Given the description of an element on the screen output the (x, y) to click on. 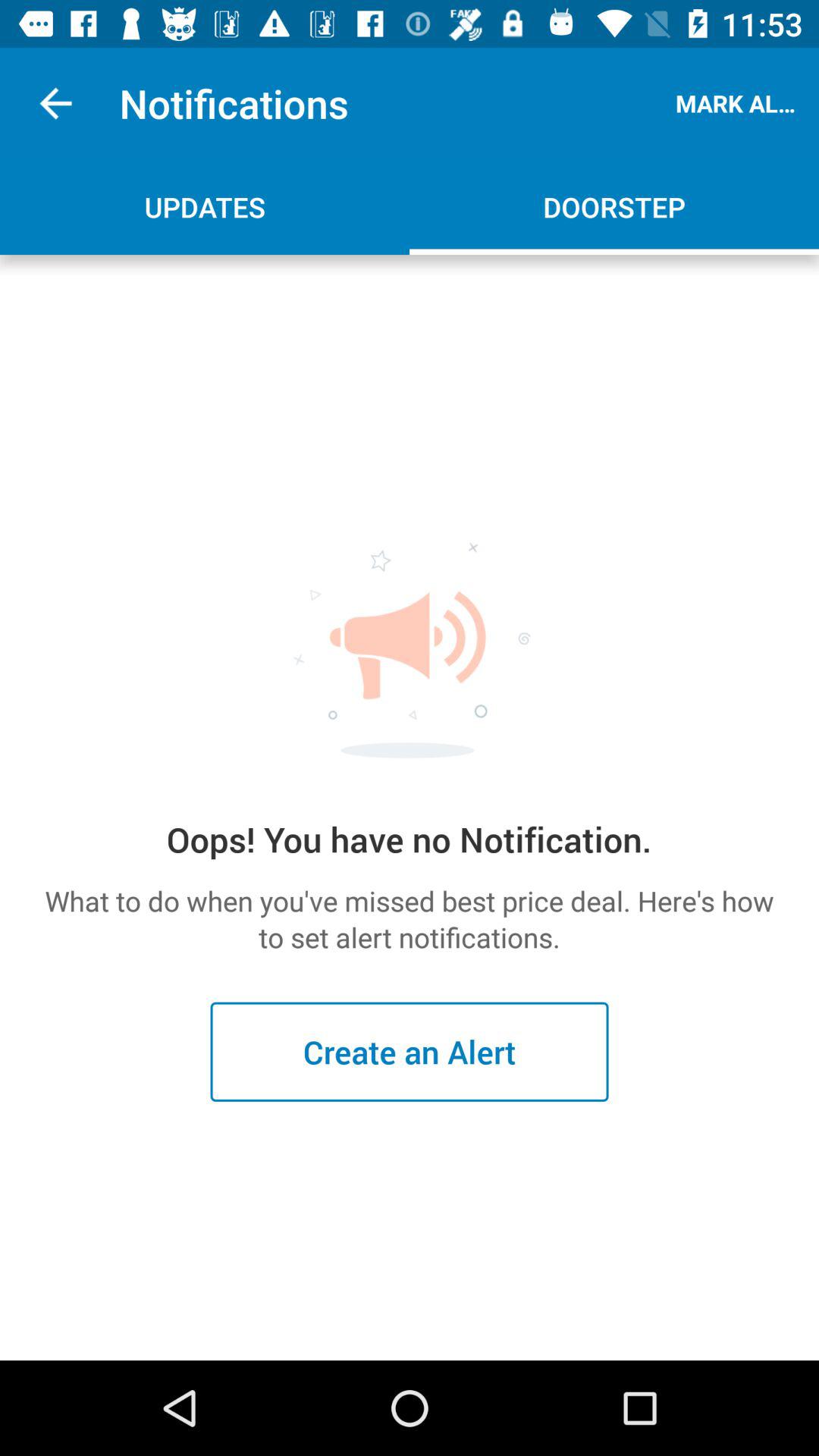
tap item next to notifications icon (55, 103)
